Given the description of an element on the screen output the (x, y) to click on. 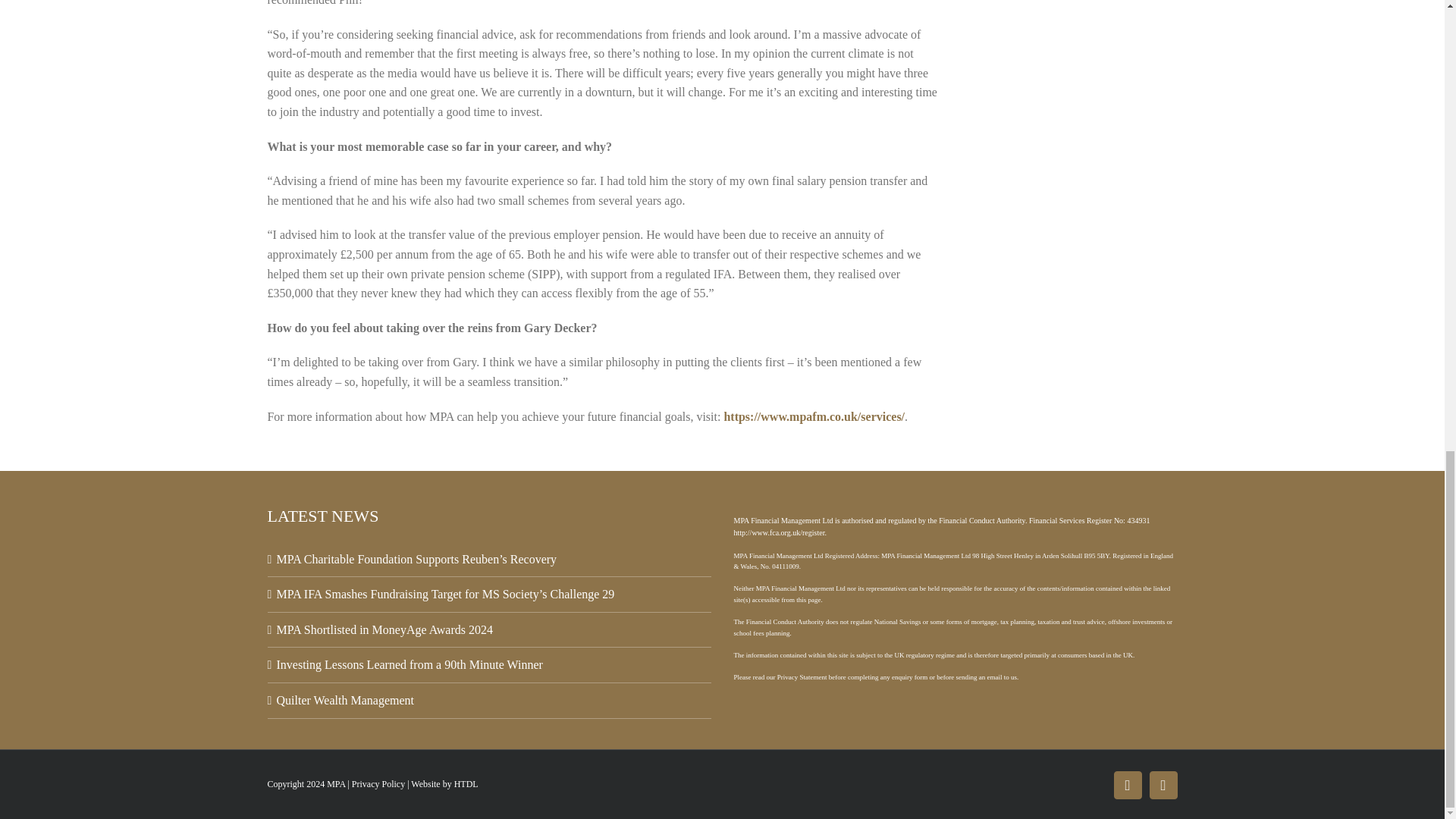
LinkedIn (1163, 785)
Facebook (1127, 785)
